Given the description of an element on the screen output the (x, y) to click on. 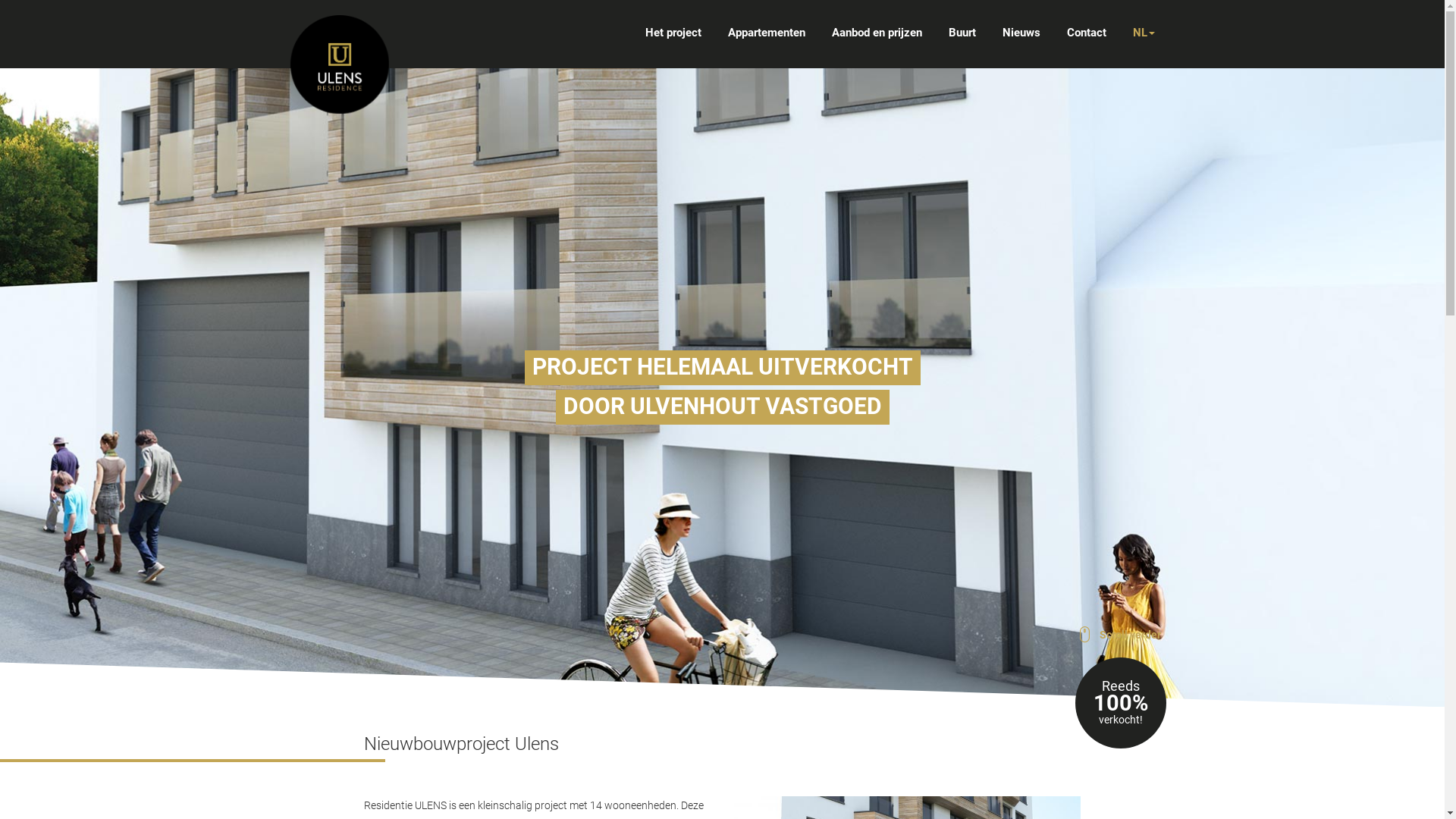
Aanbod en prijzen Element type: text (876, 32)
Het project Element type: text (672, 32)
NL Element type: text (1143, 32)
Buurt Element type: text (961, 32)
Nieuws Element type: text (1021, 32)
Contact Element type: text (1085, 32)
Appartementen Element type: text (766, 32)
